Given the description of an element on the screen output the (x, y) to click on. 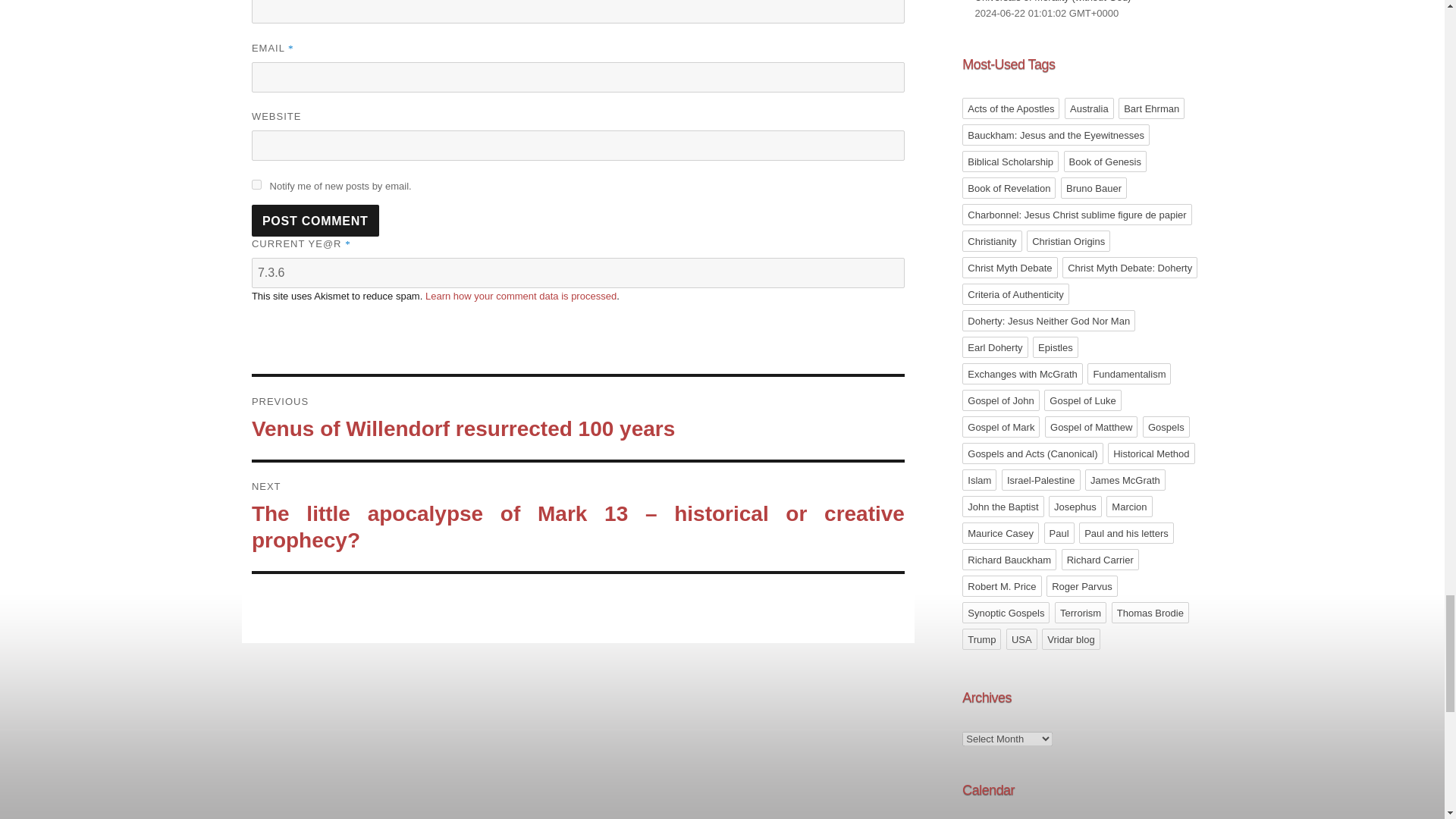
7.3.6 (577, 272)
subscribe (256, 184)
Post Comment (314, 220)
